Given the description of an element on the screen output the (x, y) to click on. 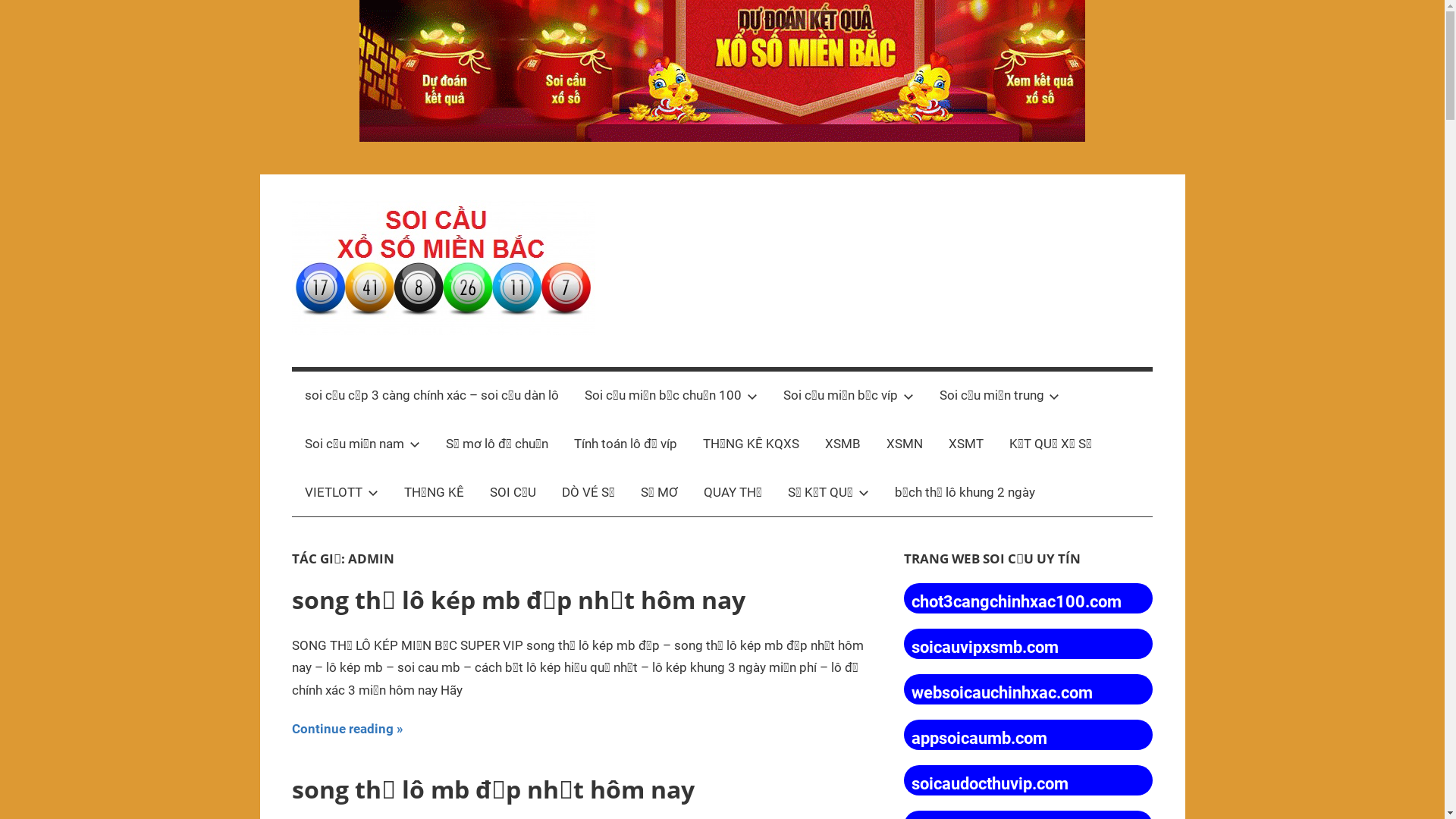
VIETLOTT Element type: text (341, 492)
soicaudocthuvip.com Element type: text (989, 784)
Continue reading Element type: text (346, 729)
XSMN Element type: text (904, 444)
XSMT Element type: text (965, 444)
XSMB Element type: text (842, 444)
chot3cangchinhxac100.com Element type: text (1016, 602)
Skip to content Element type: text (0, 0)
websoicauchinhxac.com Element type: text (1001, 693)
appsoicaumb.com Element type: text (979, 738)
soicauvipxsmb.com Element type: text (984, 647)
